Given the description of an element on the screen output the (x, y) to click on. 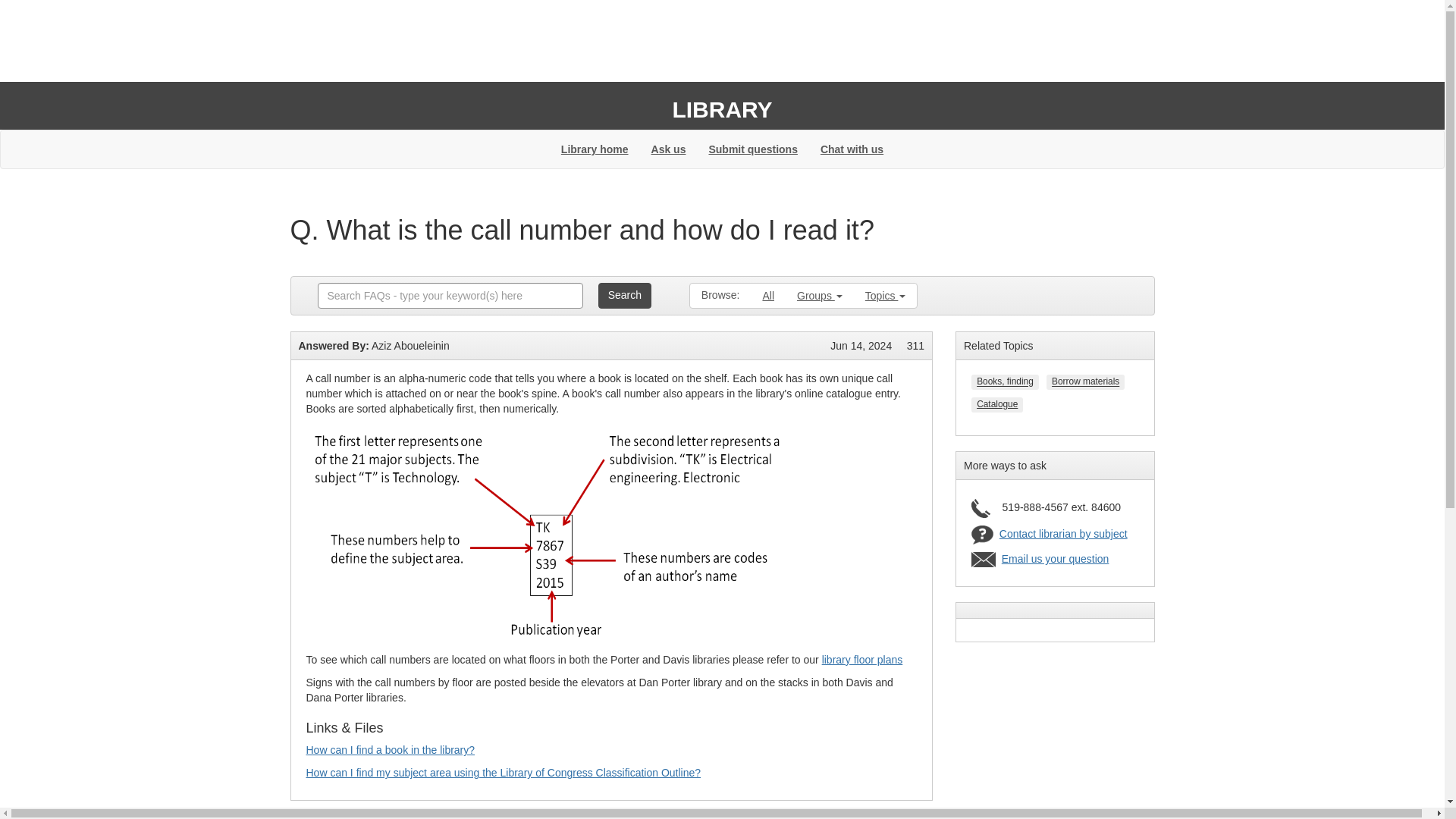
Chat with us (852, 149)
Search (624, 295)
All (768, 295)
Views (915, 345)
Topics (885, 295)
Opens in new window (503, 772)
Ask us (668, 149)
Opens in new window (390, 749)
LIBRARY (721, 109)
Submit questions (752, 149)
Groups (819, 295)
Library home (595, 149)
Last Updated (860, 345)
University of Waterloo (373, 48)
